Given the description of an element on the screen output the (x, y) to click on. 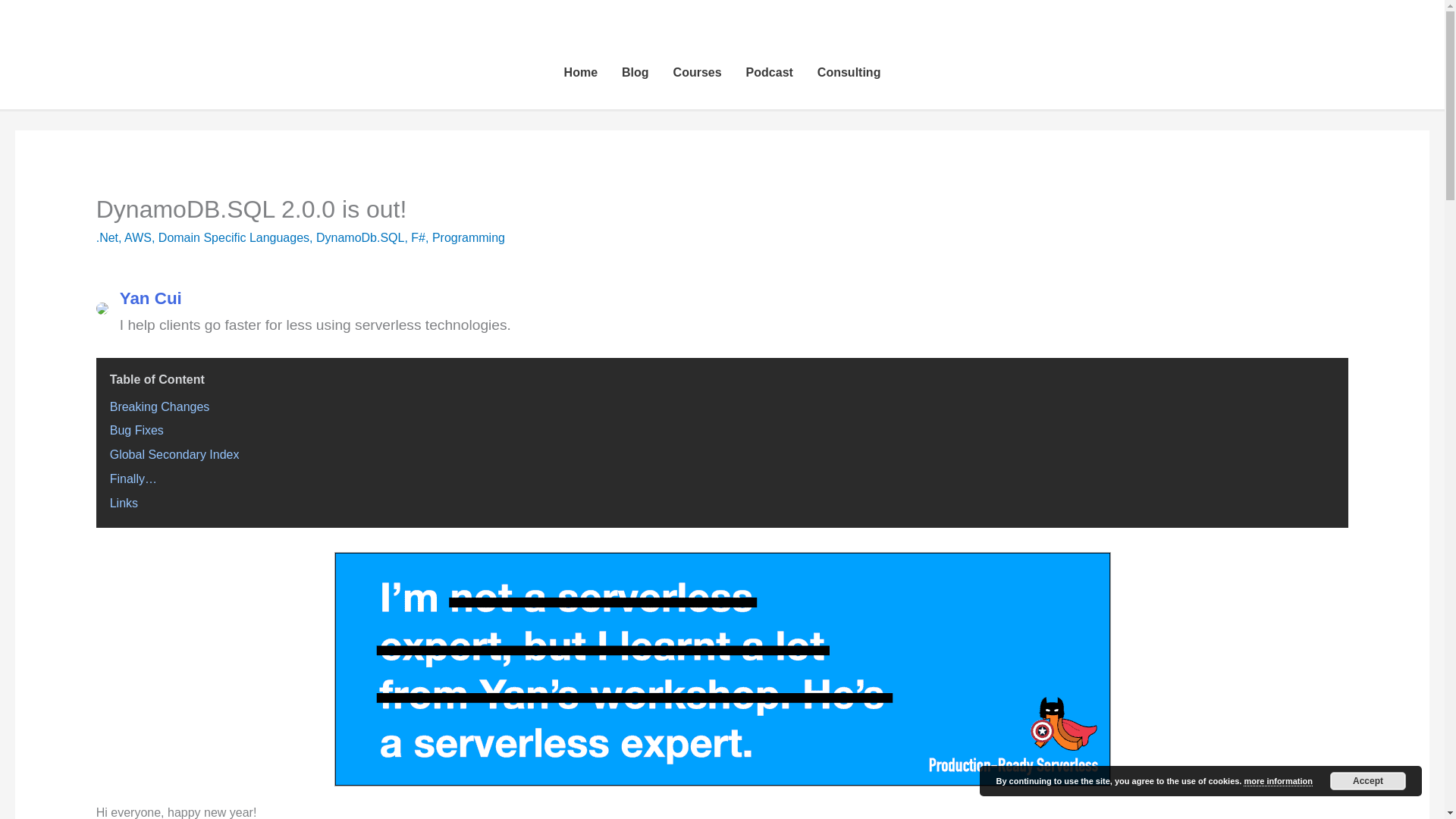
Bug Fixes (136, 430)
Consulting (849, 72)
AWS (137, 237)
DynamoDb.SQL (359, 237)
Links (124, 502)
Blog (635, 72)
Domain Specific Languages (233, 237)
Global Secondary Index (175, 454)
.Net (106, 237)
Podcast (769, 72)
